Given the description of an element on the screen output the (x, y) to click on. 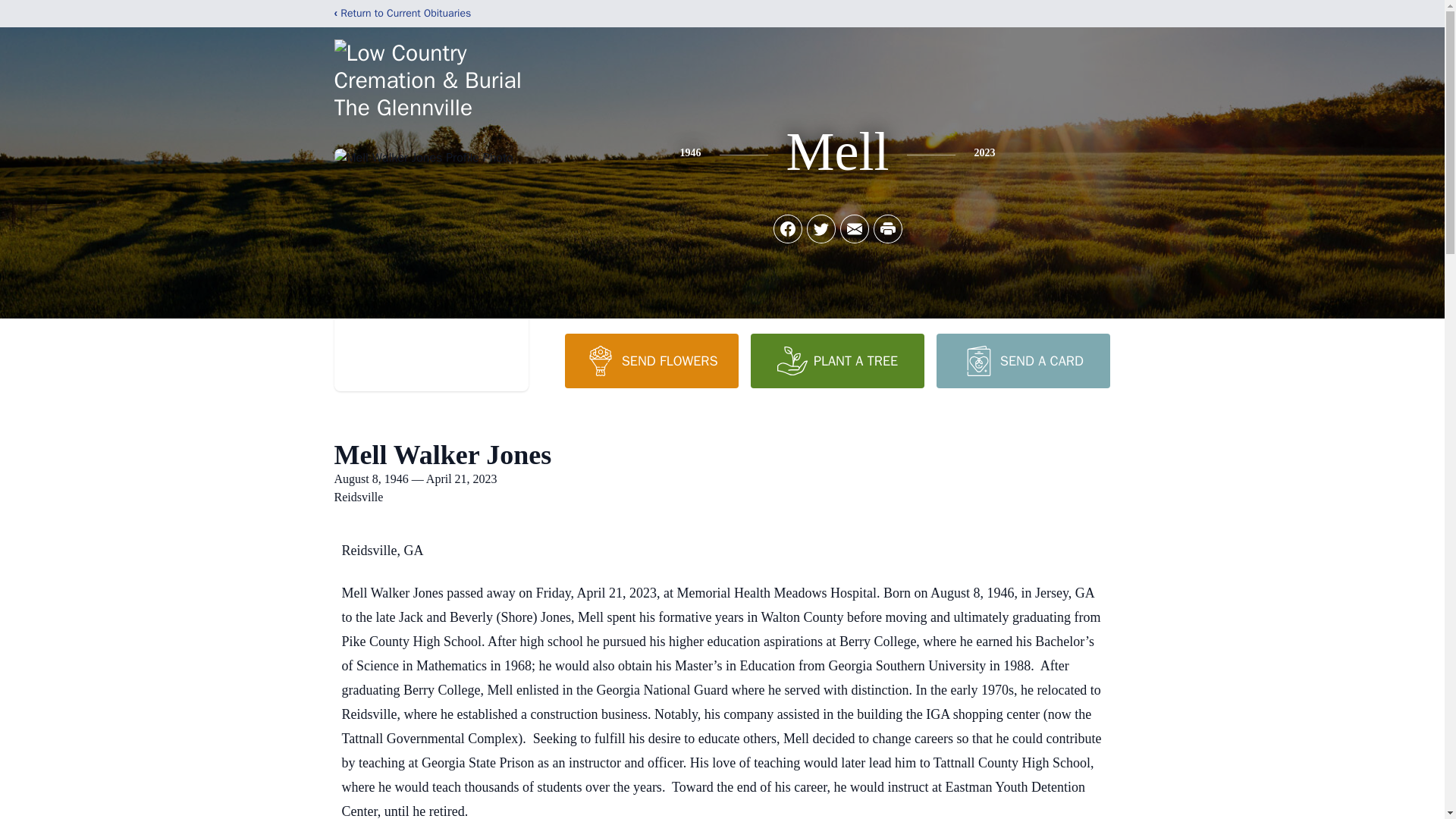
SEND A CARD (1022, 360)
PLANT A TREE (837, 360)
SEND FLOWERS (651, 360)
